Given the description of an element on the screen output the (x, y) to click on. 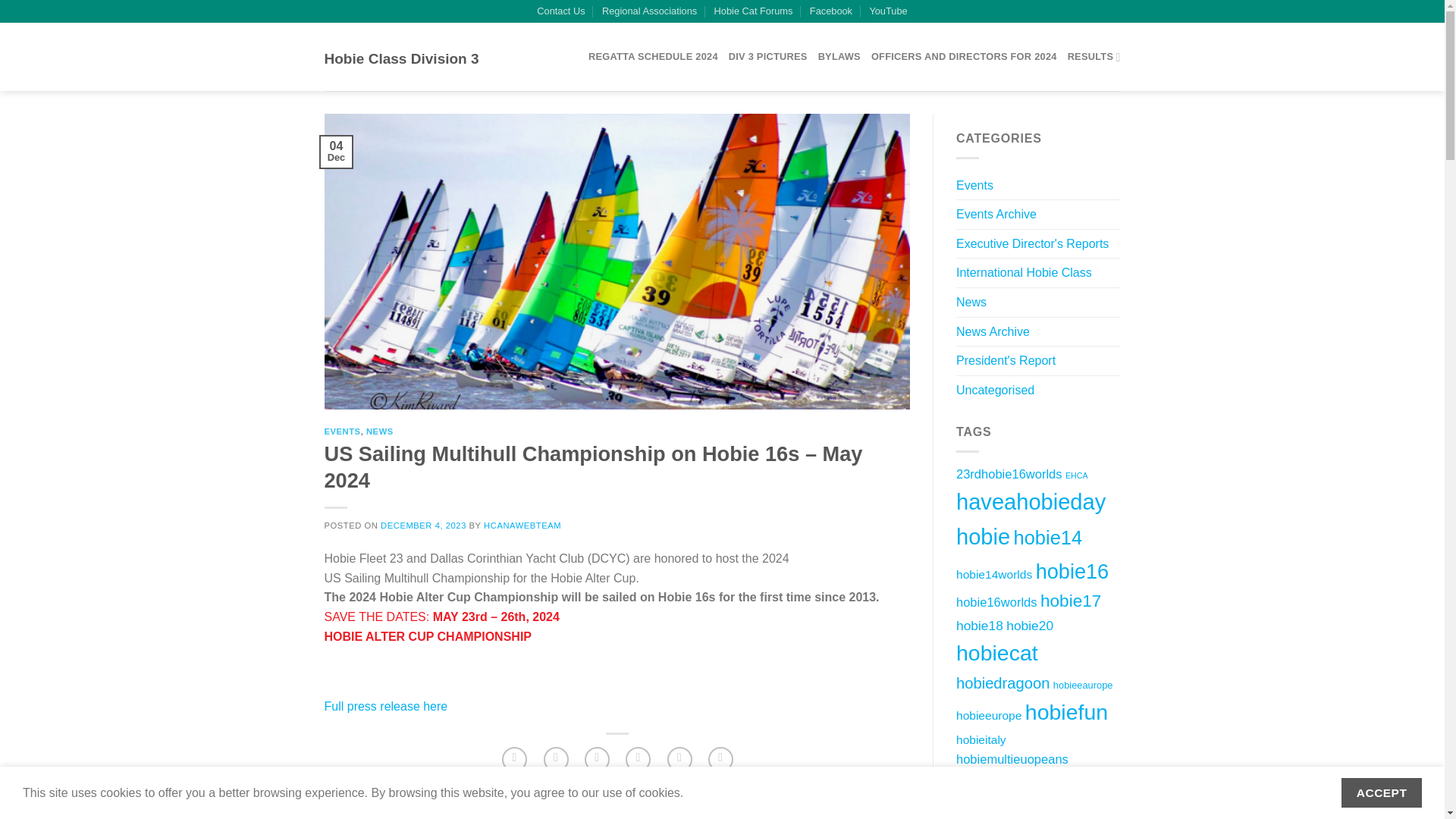
EVENTS (342, 430)
News (477, 812)
DIV 3 PICTURES (768, 56)
Email to a Friend (597, 759)
News (971, 302)
Hobie Class Division 3 (401, 58)
Pin on Pinterest (638, 759)
REGATTA SCHEDULE 2024 (652, 56)
HCANAWEBTEAM (521, 524)
BYLAWS (839, 56)
Share on Twitter (556, 759)
Share on VKontakte (679, 759)
Events (445, 812)
Hobie Class Division 3 (401, 58)
Full press release here (386, 706)
